Given the description of an element on the screen output the (x, y) to click on. 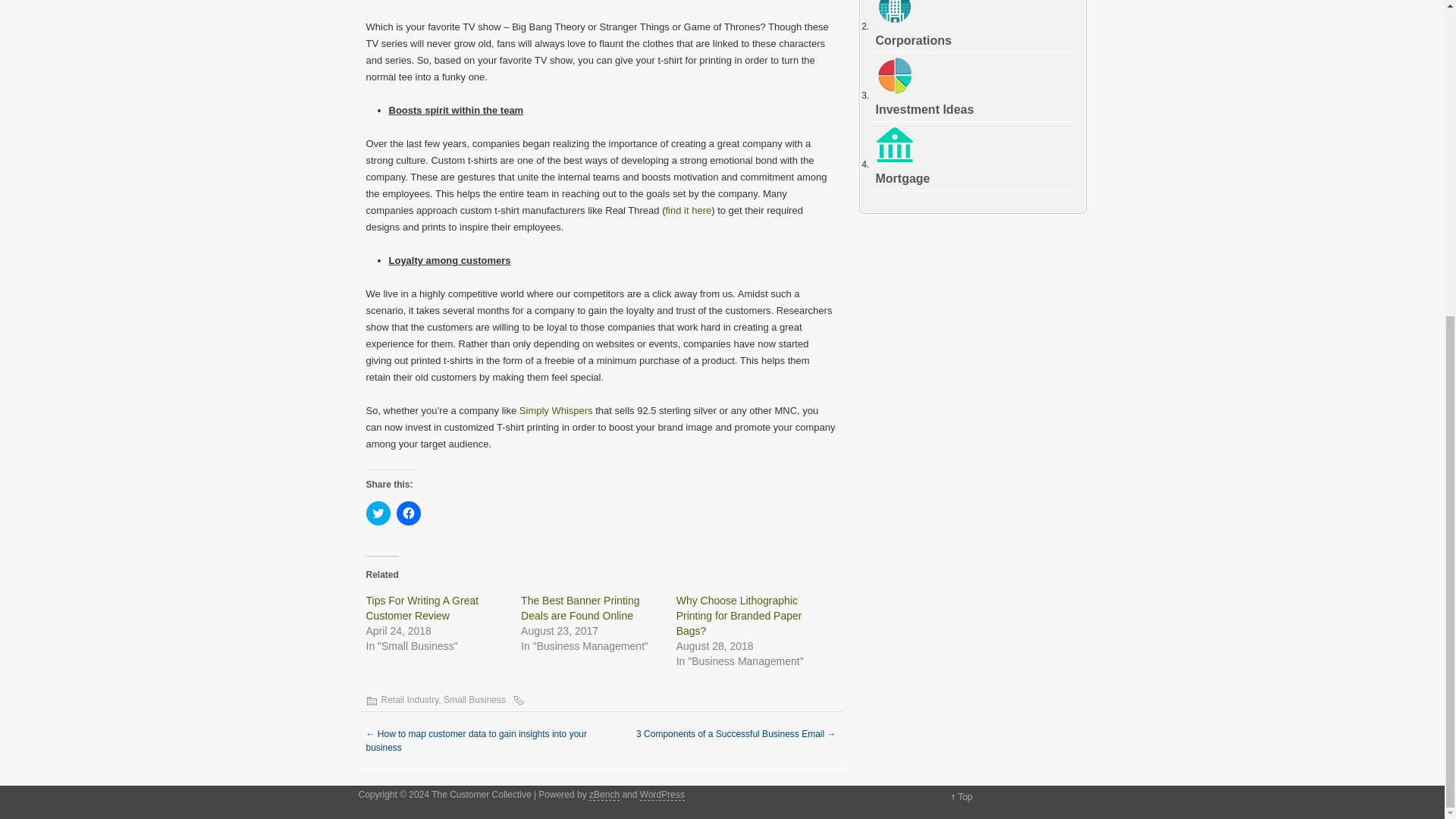
Tips For Writing A Great Customer Review (422, 607)
Back to top (965, 796)
Why Choose Lithographic Printing for Branded Paper Bags? (739, 615)
Why Choose Lithographic Printing for Branded Paper Bags? (739, 615)
Simply Whispers (555, 410)
Small Business (474, 699)
find it here (688, 210)
The Best Banner Printing Deals are Found Online (580, 607)
Retail Industry (409, 699)
The Best Banner Printing Deals are Found Online (580, 607)
